Given the description of an element on the screen output the (x, y) to click on. 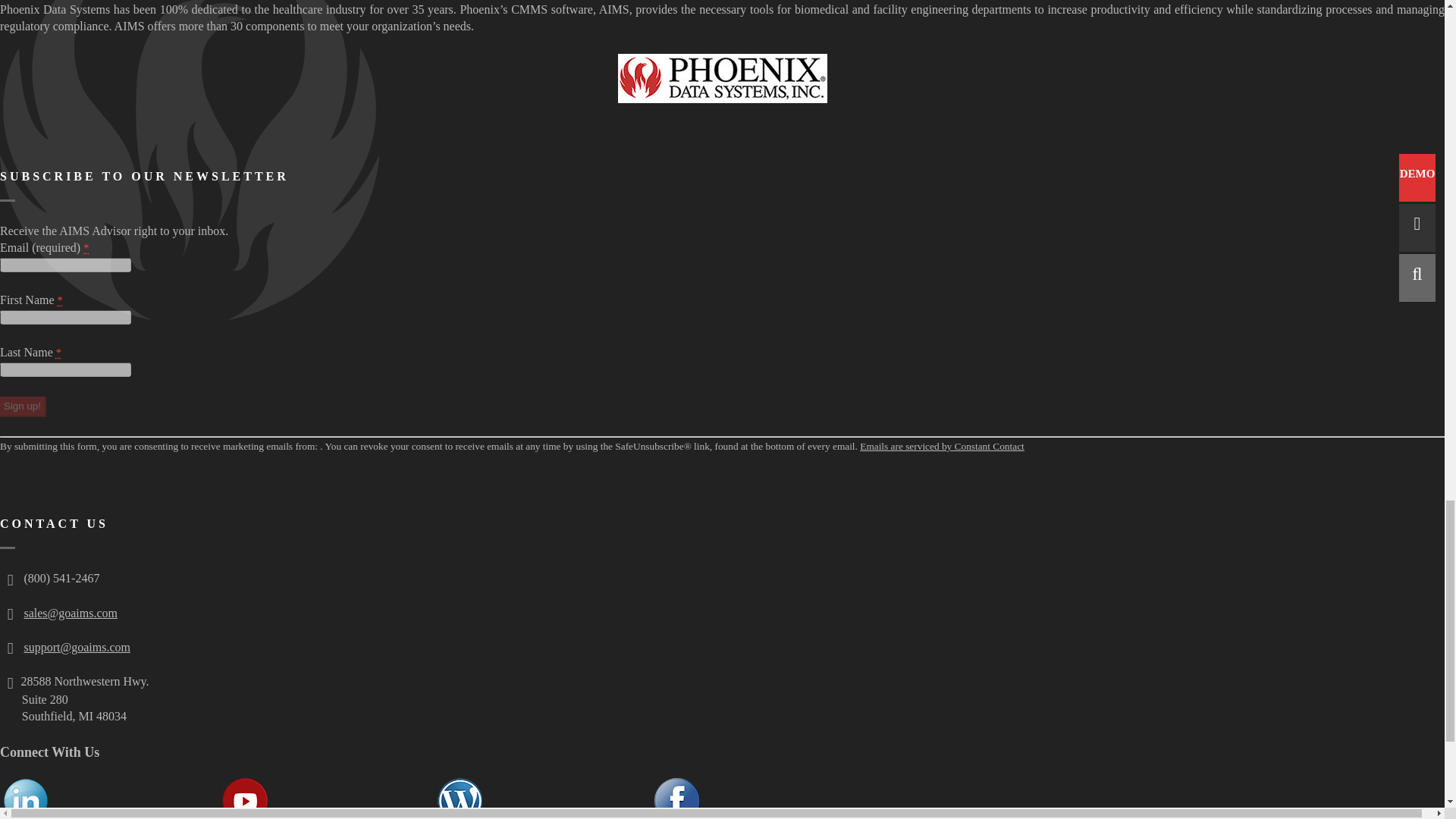
required (85, 247)
required (58, 352)
required (60, 300)
Sign up! (23, 406)
